Given the description of an element on the screen output the (x, y) to click on. 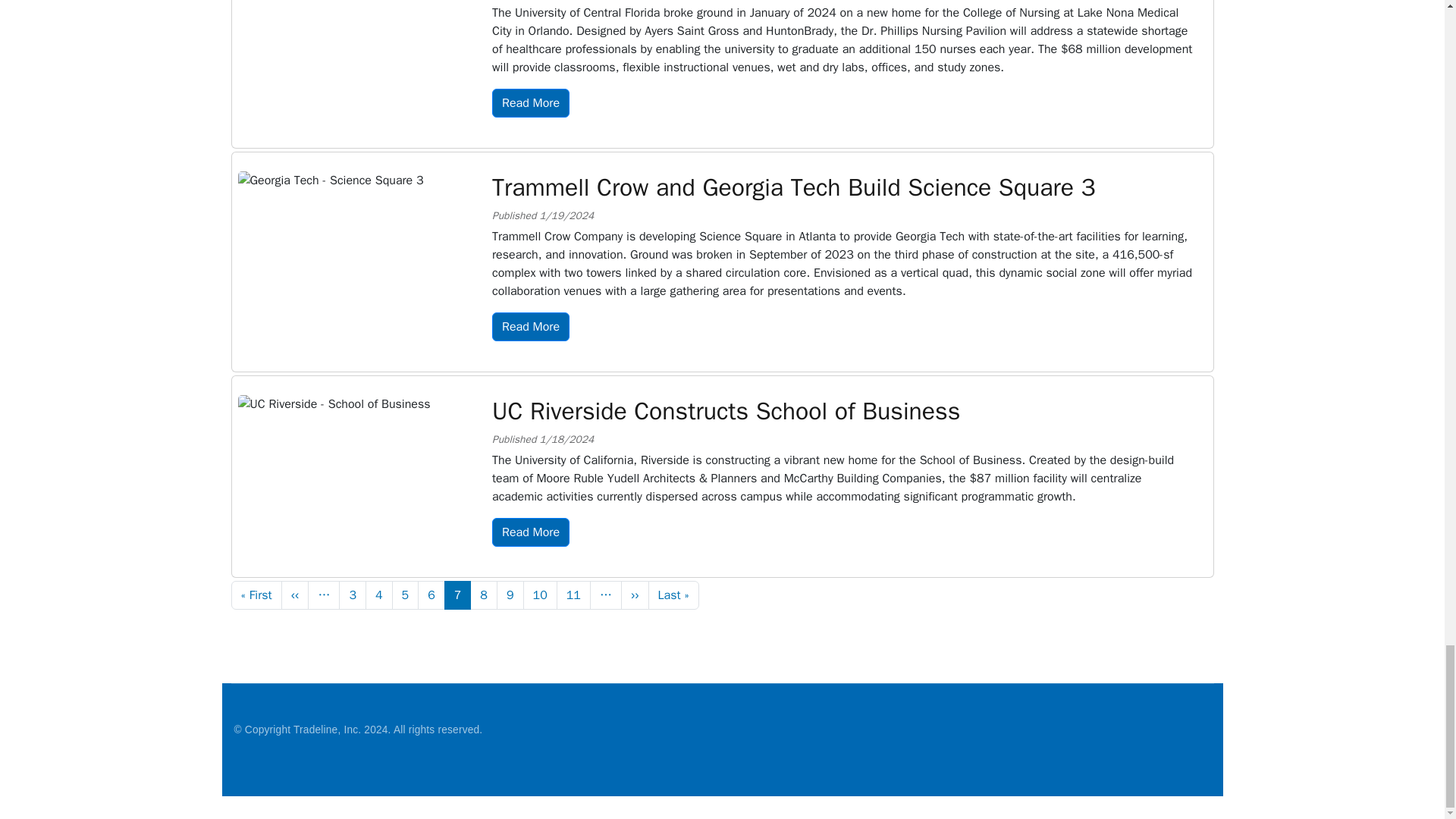
Go to previous page (294, 594)
Go to first page (255, 594)
Go to next page (635, 594)
Go to last page (672, 594)
